Given the description of an element on the screen output the (x, y) to click on. 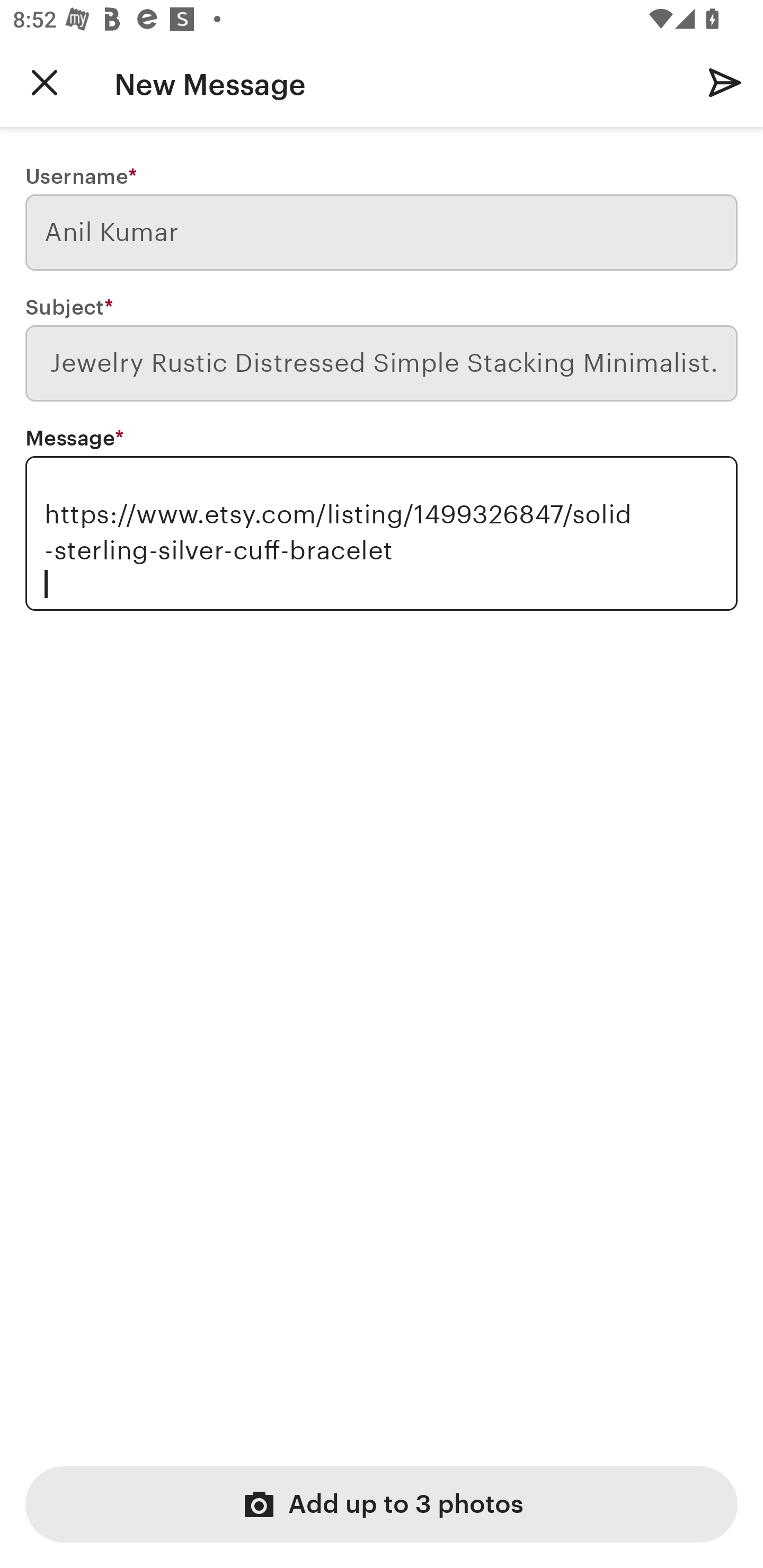
Navigate up (44, 81)
Anil Kumar (381, 232)
Add up to 3 photos (381, 1504)
